Given the description of an element on the screen output the (x, y) to click on. 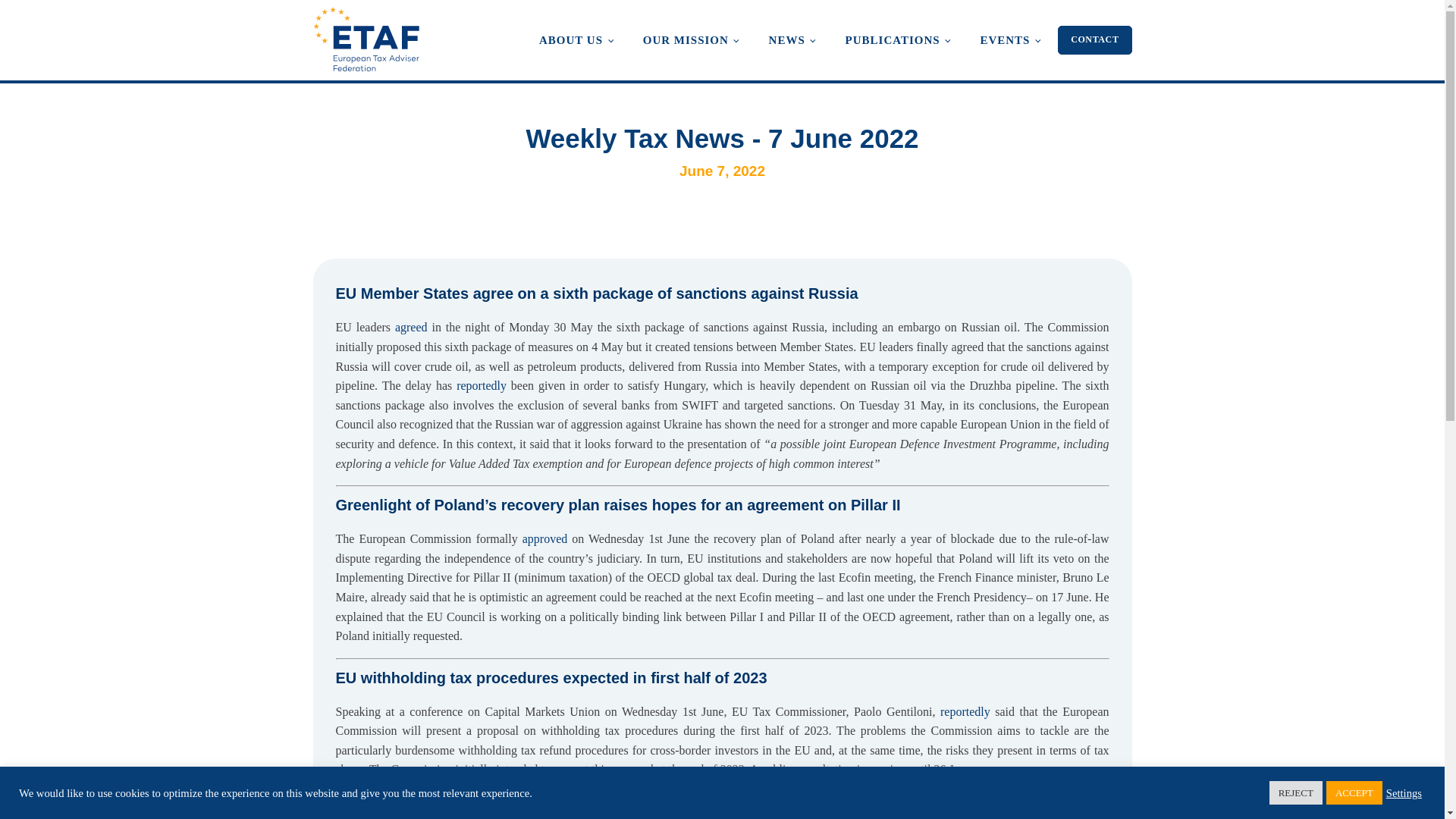
OUR MISSION (690, 39)
ABOUT US (575, 39)
EVENTS (1008, 39)
approved (544, 538)
PUBLICATIONS (897, 39)
reportedly (481, 385)
reportedly (965, 711)
agreed (411, 327)
CONTACT (1094, 39)
NEWS (791, 39)
